Given the description of an element on the screen output the (x, y) to click on. 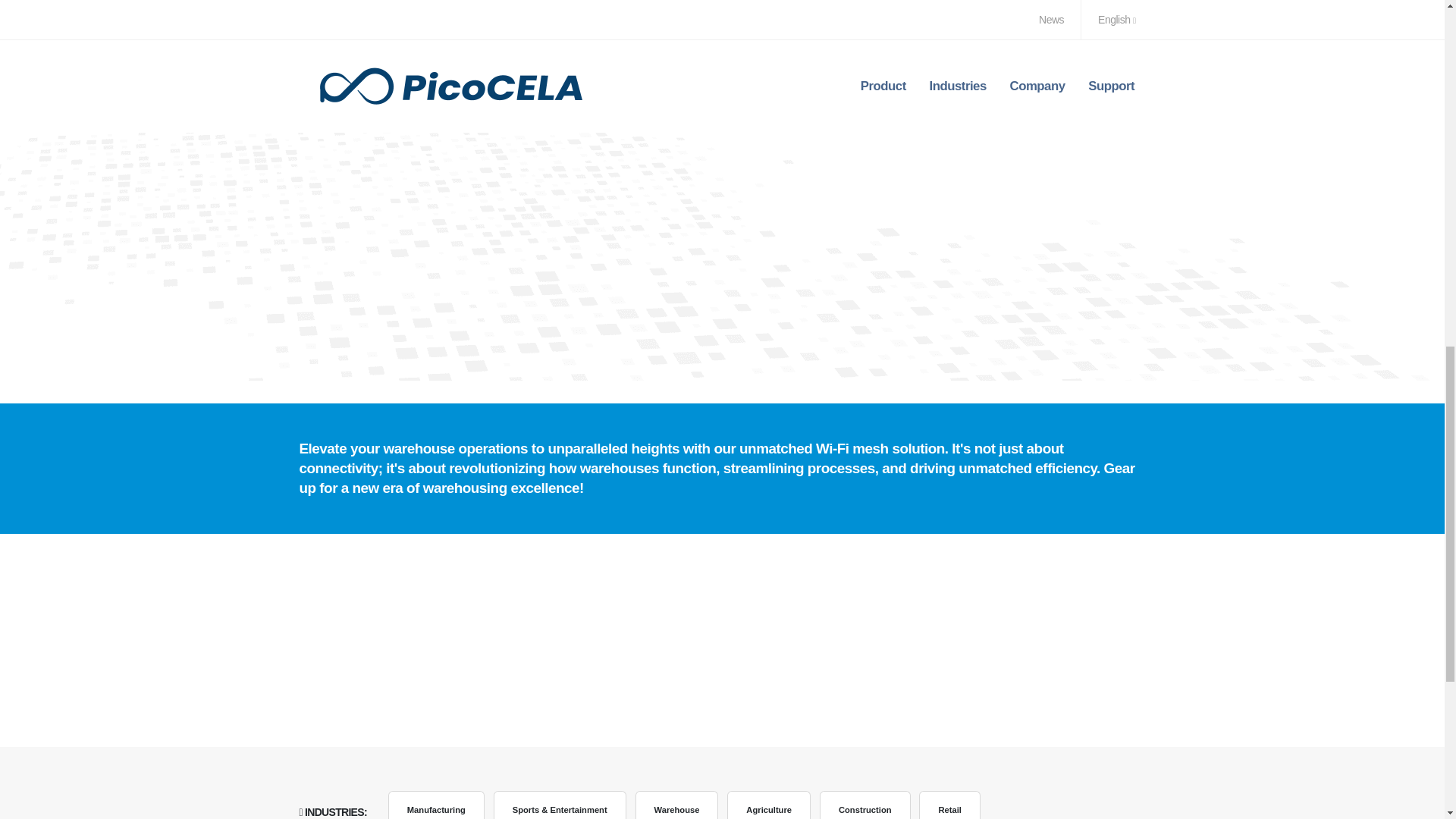
Retail (948, 805)
Agriculture (768, 805)
Warehouse (676, 805)
Construction (865, 805)
Manufacturing (436, 805)
